Given the description of an element on the screen output the (x, y) to click on. 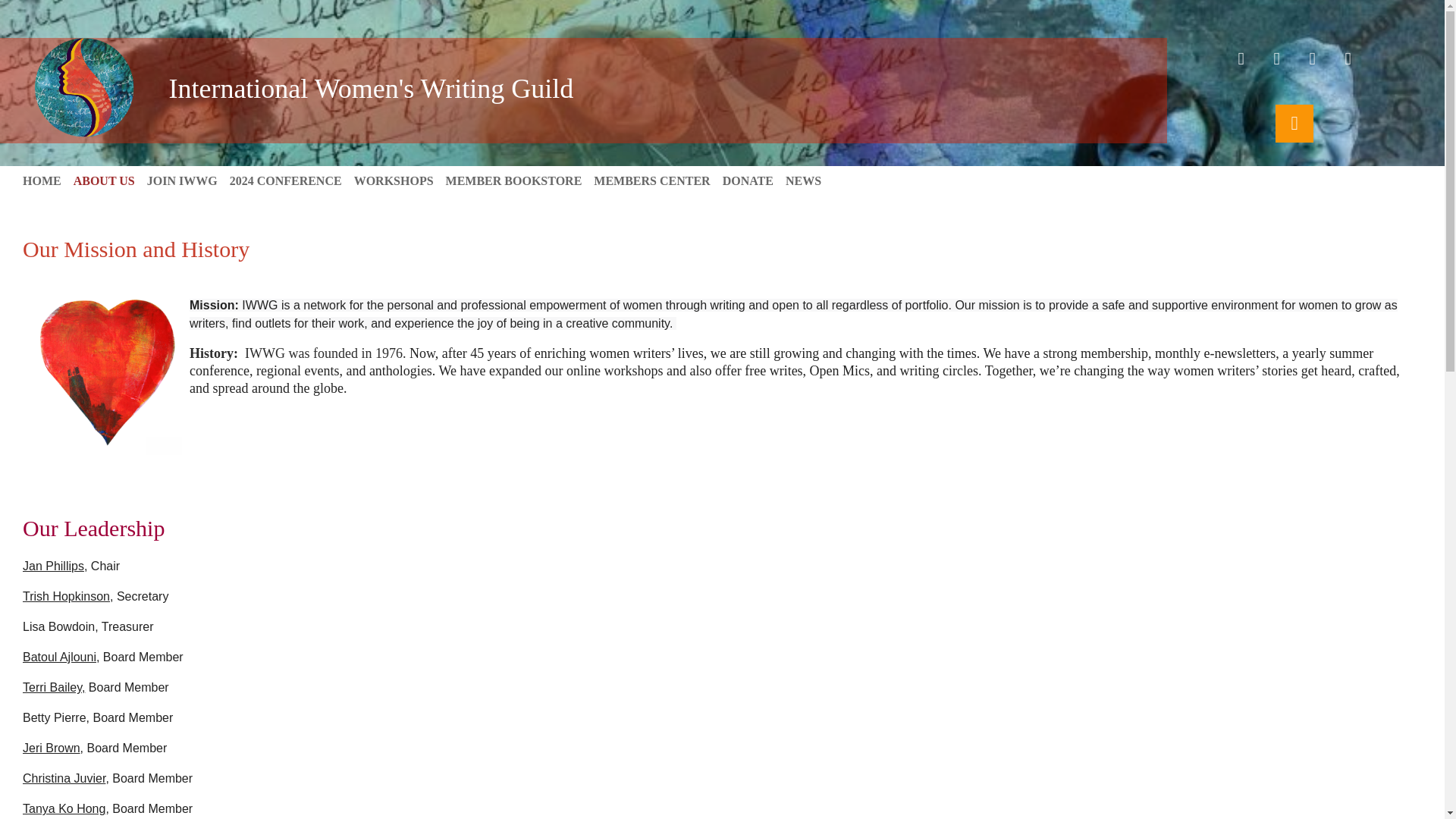
JOIN IWWG (188, 180)
Terri Bailey, (53, 686)
About Us (110, 180)
Jeri Brown (51, 748)
Batoul Ajlouni (59, 656)
DONATE (754, 180)
Log in (1294, 123)
ABOUT US (110, 180)
NEWS (809, 180)
Facebook (1240, 58)
MEMBER BOOKSTORE (519, 180)
Home (48, 180)
2024 CONFERENCE (291, 180)
Tanya Ko Hong (63, 808)
Twitter (1276, 58)
